Given the description of an element on the screen output the (x, y) to click on. 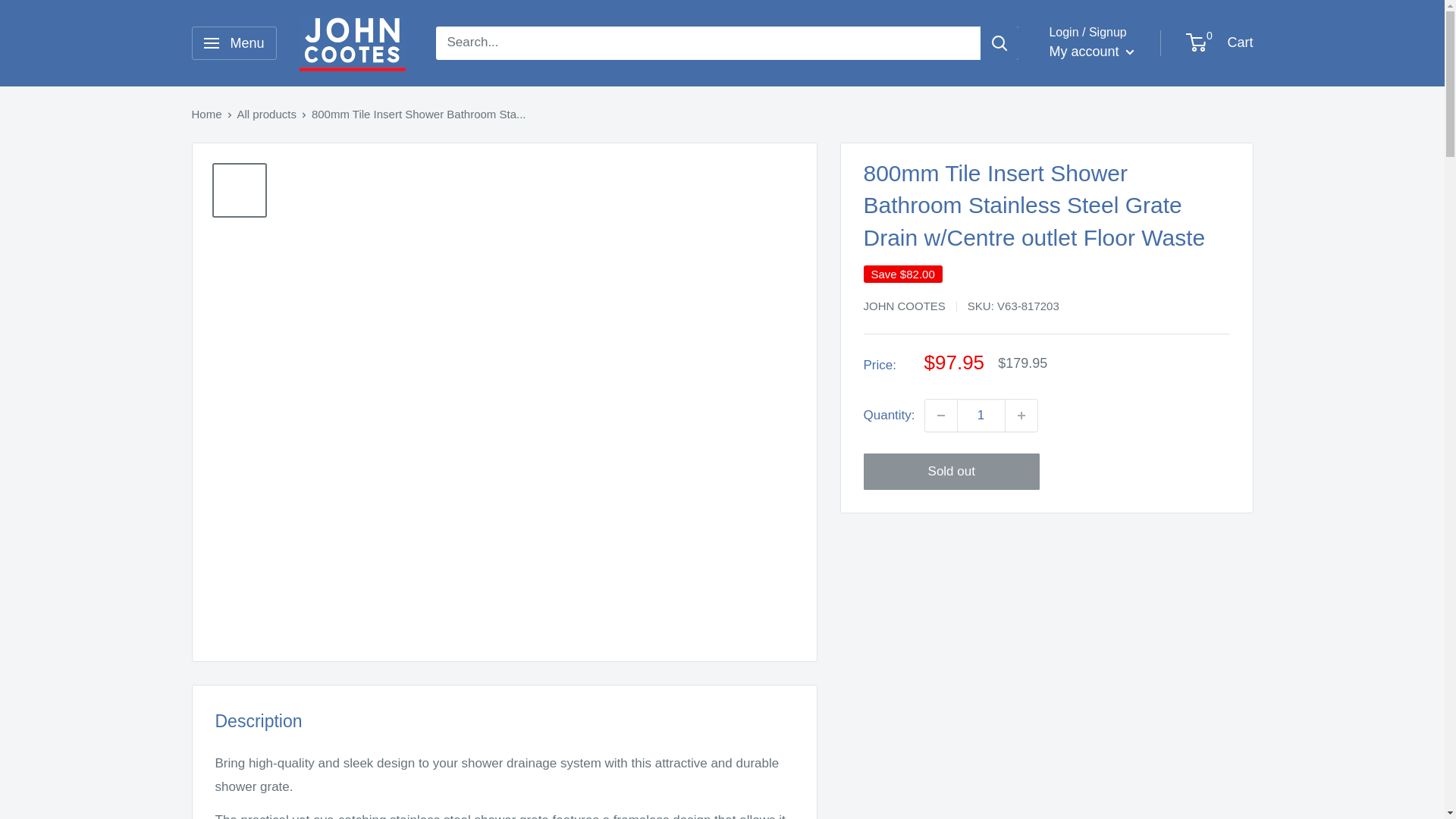
Decrease quantity by 1 (940, 415)
1 (981, 415)
Increase quantity by 1 (1021, 415)
